Given the description of an element on the screen output the (x, y) to click on. 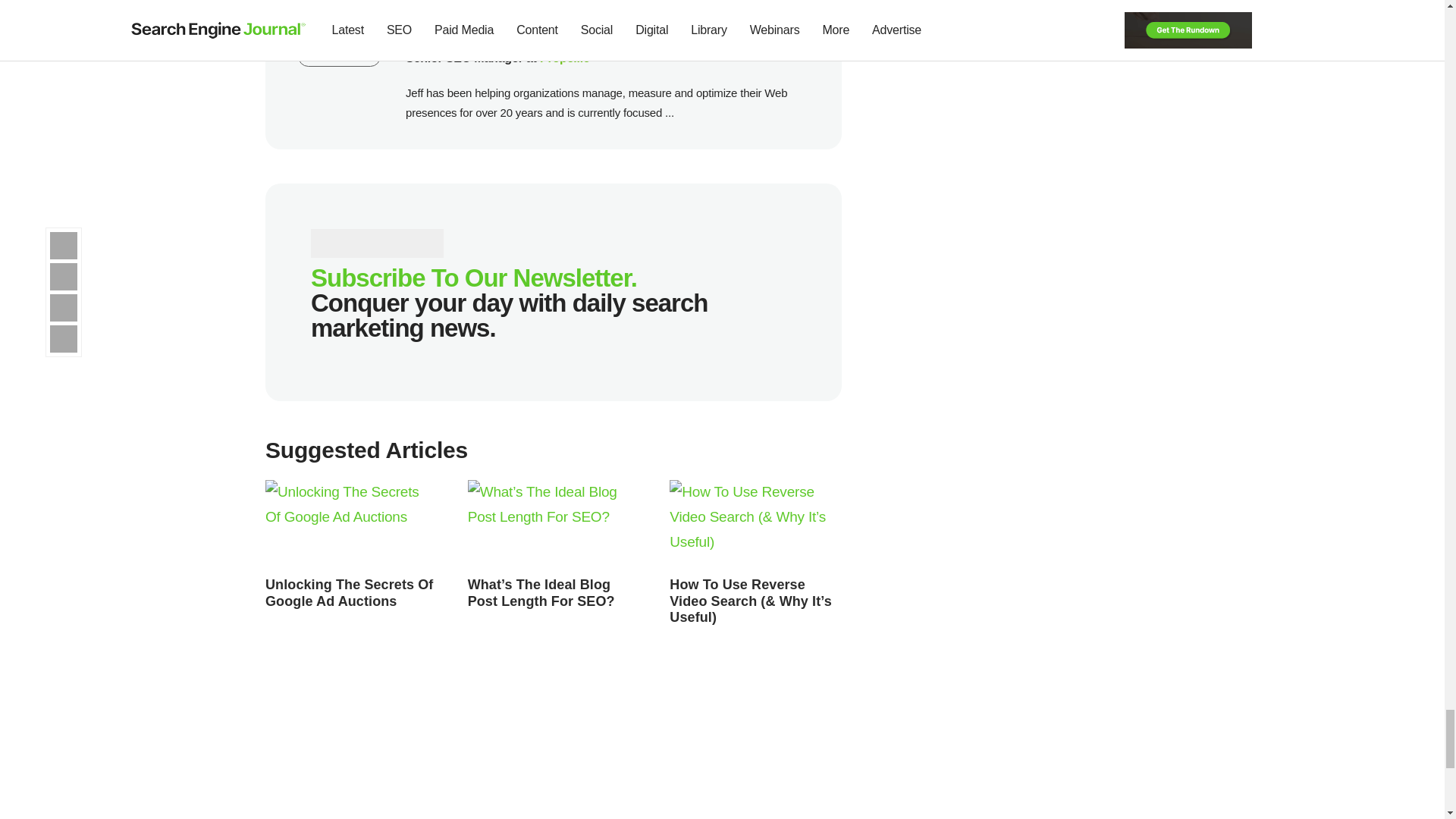
Read the Article (750, 600)
Read the Article (755, 524)
Read the Article (540, 593)
Read the Article (348, 593)
Read the Article (553, 524)
Read the Article (351, 524)
